Given the description of an element on the screen output the (x, y) to click on. 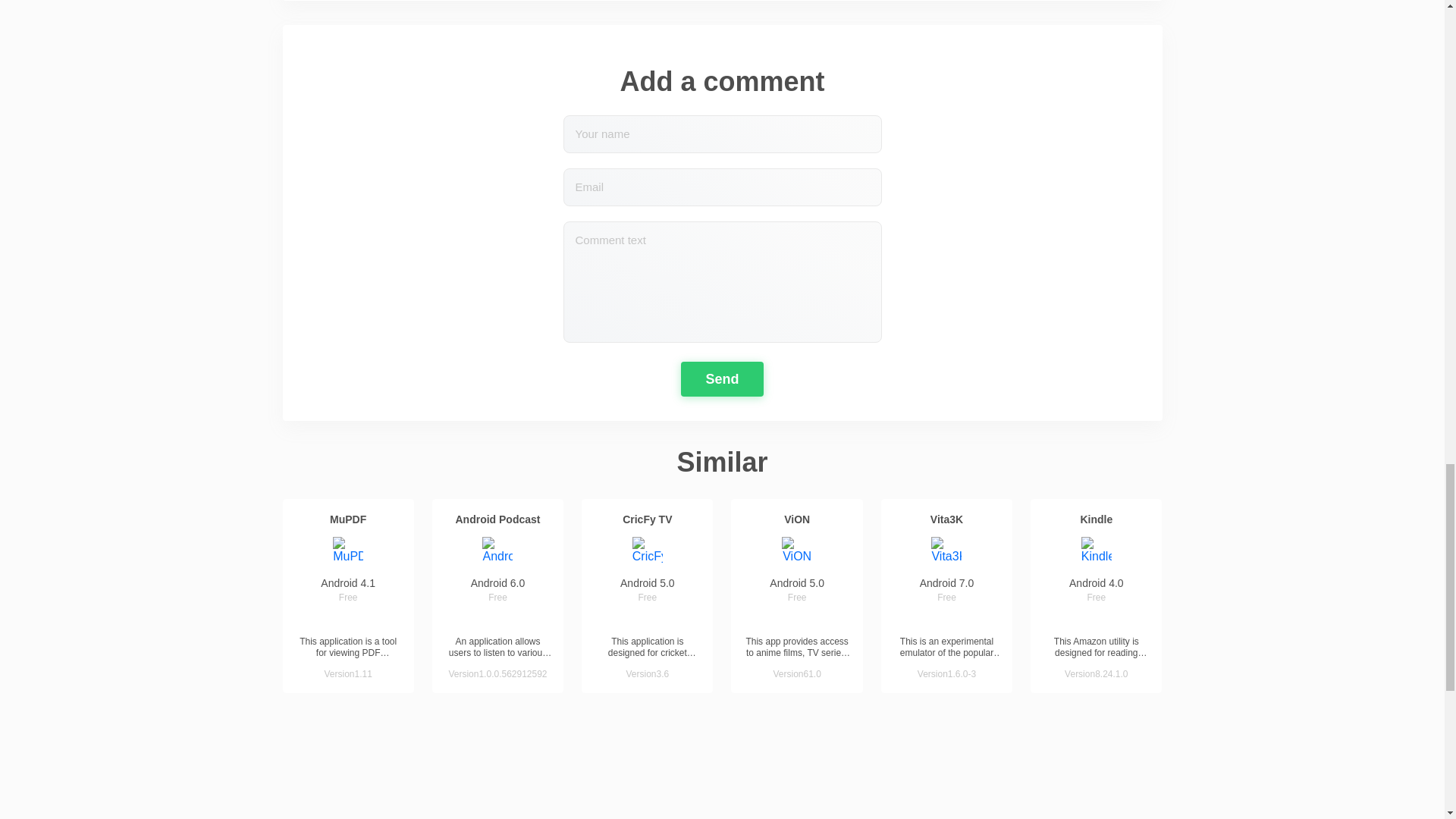
4 (512, 619)
CricFy TV (647, 519)
1 (616, 619)
1 (467, 619)
4 (363, 619)
2 (481, 619)
2 (332, 619)
3 (497, 619)
5 (528, 619)
MuPDF (348, 519)
